Given the description of an element on the screen output the (x, y) to click on. 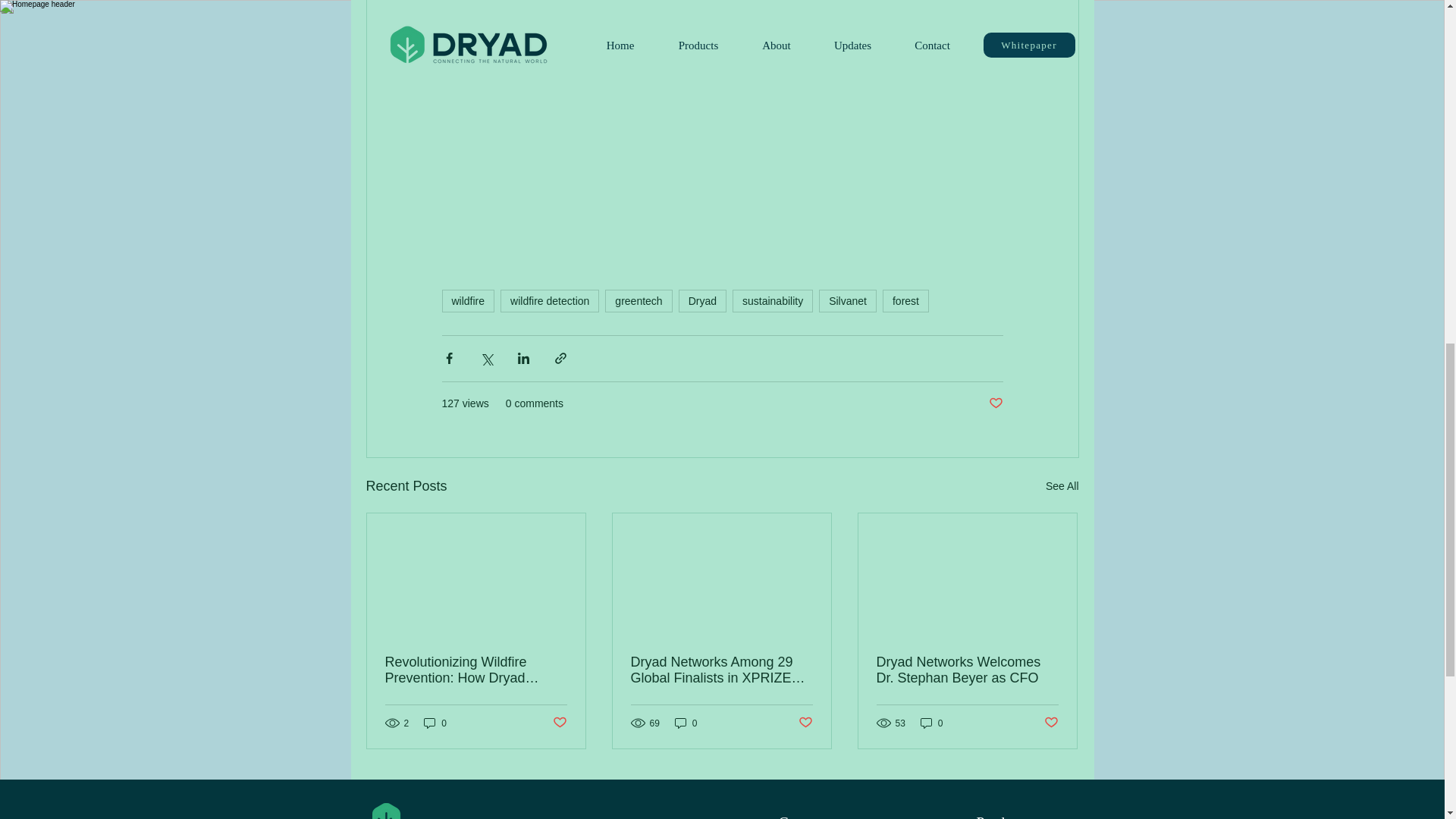
Silvanet (847, 300)
Dryad (702, 300)
wildfire (468, 300)
wildfire detection (549, 300)
sustainability (772, 300)
forest (905, 300)
greentech (638, 300)
